Given the description of an element on the screen output the (x, y) to click on. 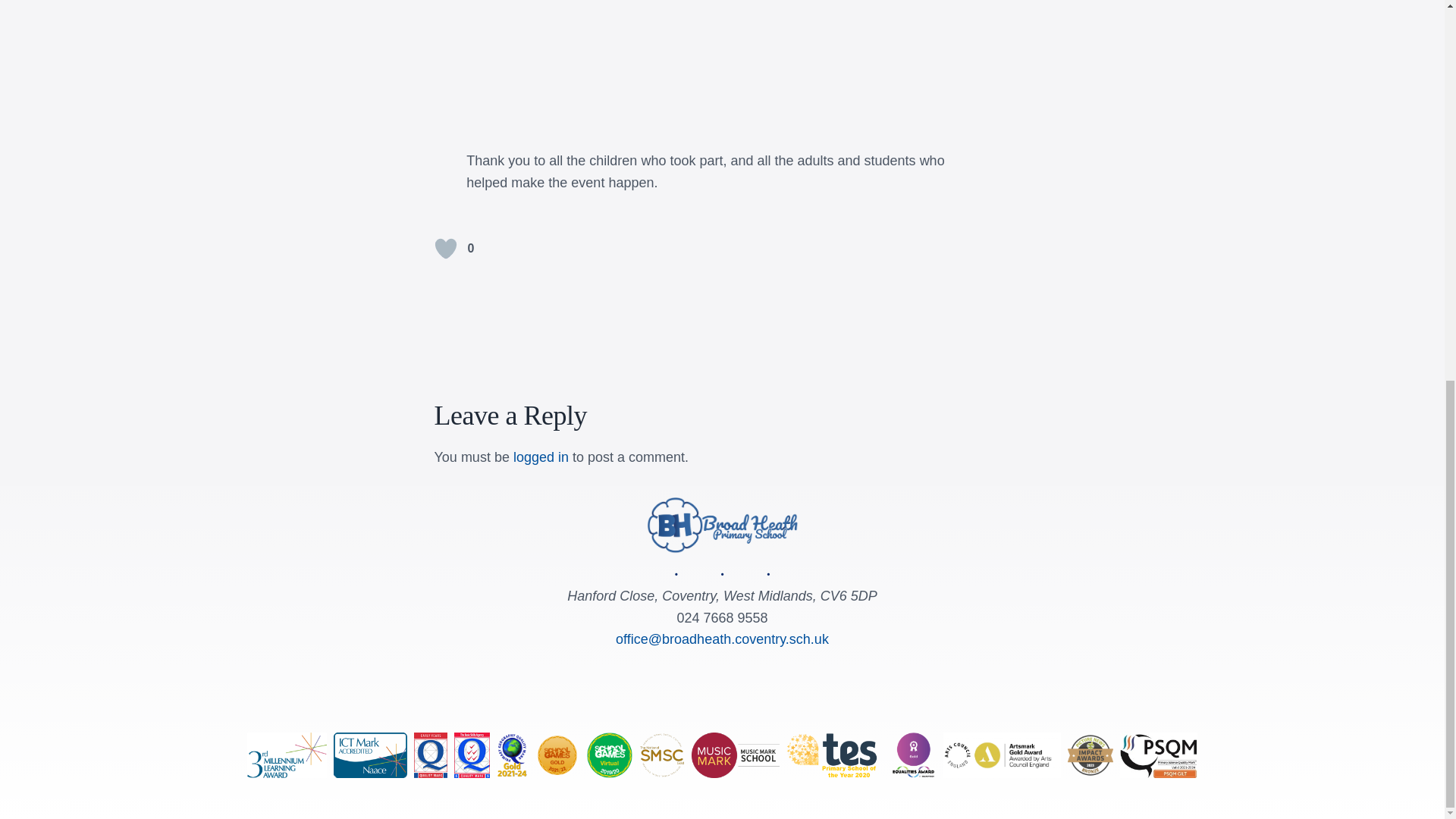
Ks1 core skills festival (721, 59)
